Given the description of an element on the screen output the (x, y) to click on. 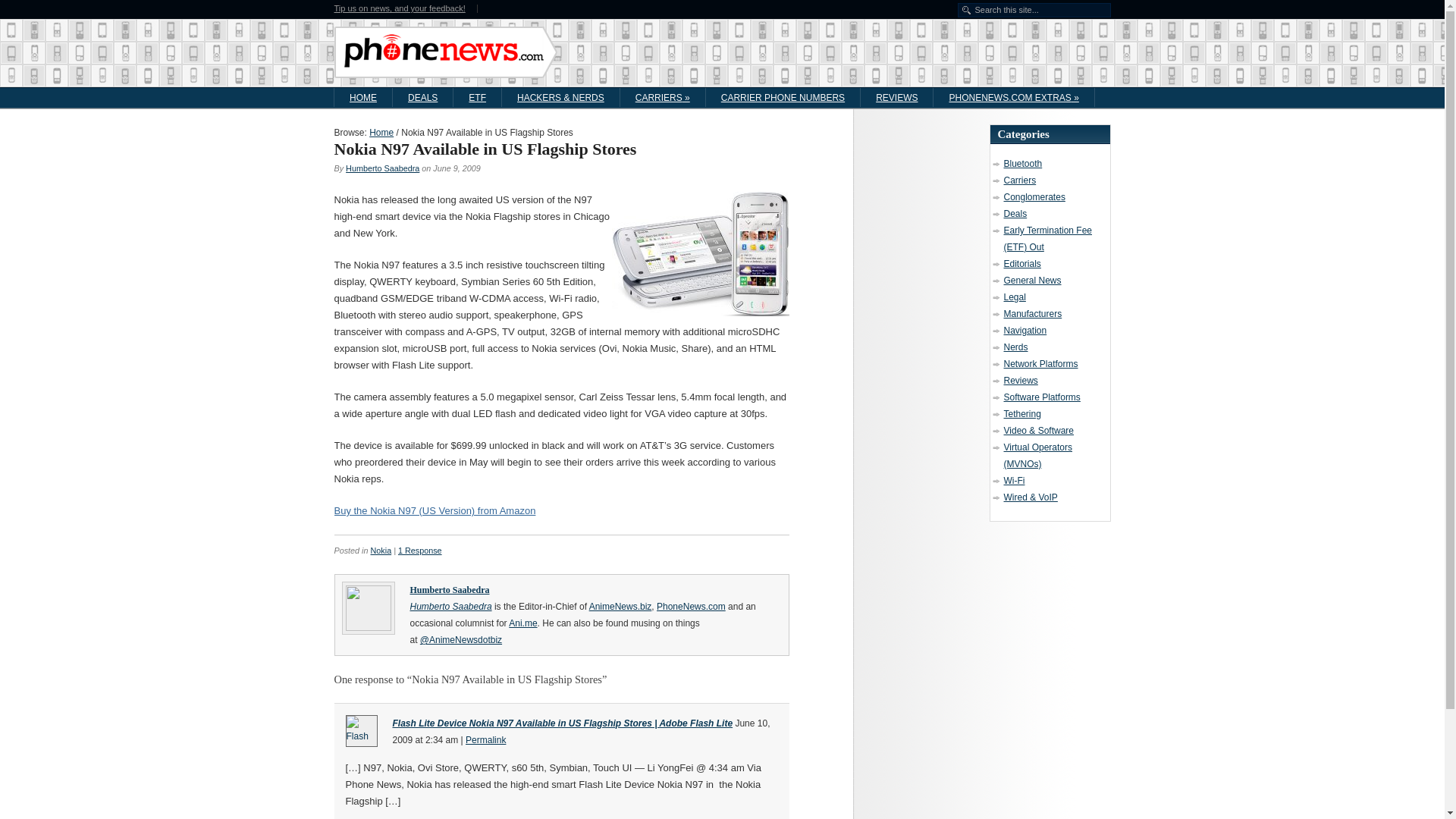
DEALS (422, 97)
Bluetooth (1023, 163)
Permalink (485, 739)
Humberto Saabedra (382, 167)
Home (381, 132)
Posts by Humberto Saabedra (449, 589)
PhoneNews.com (381, 132)
Wednesday, June 10th, 2009, 2:34 am (581, 731)
CARRIER PHONE NUMBERS (783, 97)
Humberto Saabedra (450, 606)
Carriers (1020, 180)
PhoneNews.com (690, 606)
AnimeNews.biz (620, 606)
Permalink to comment 28308 (485, 739)
Humberto Saabedra (449, 589)
